Given the description of an element on the screen output the (x, y) to click on. 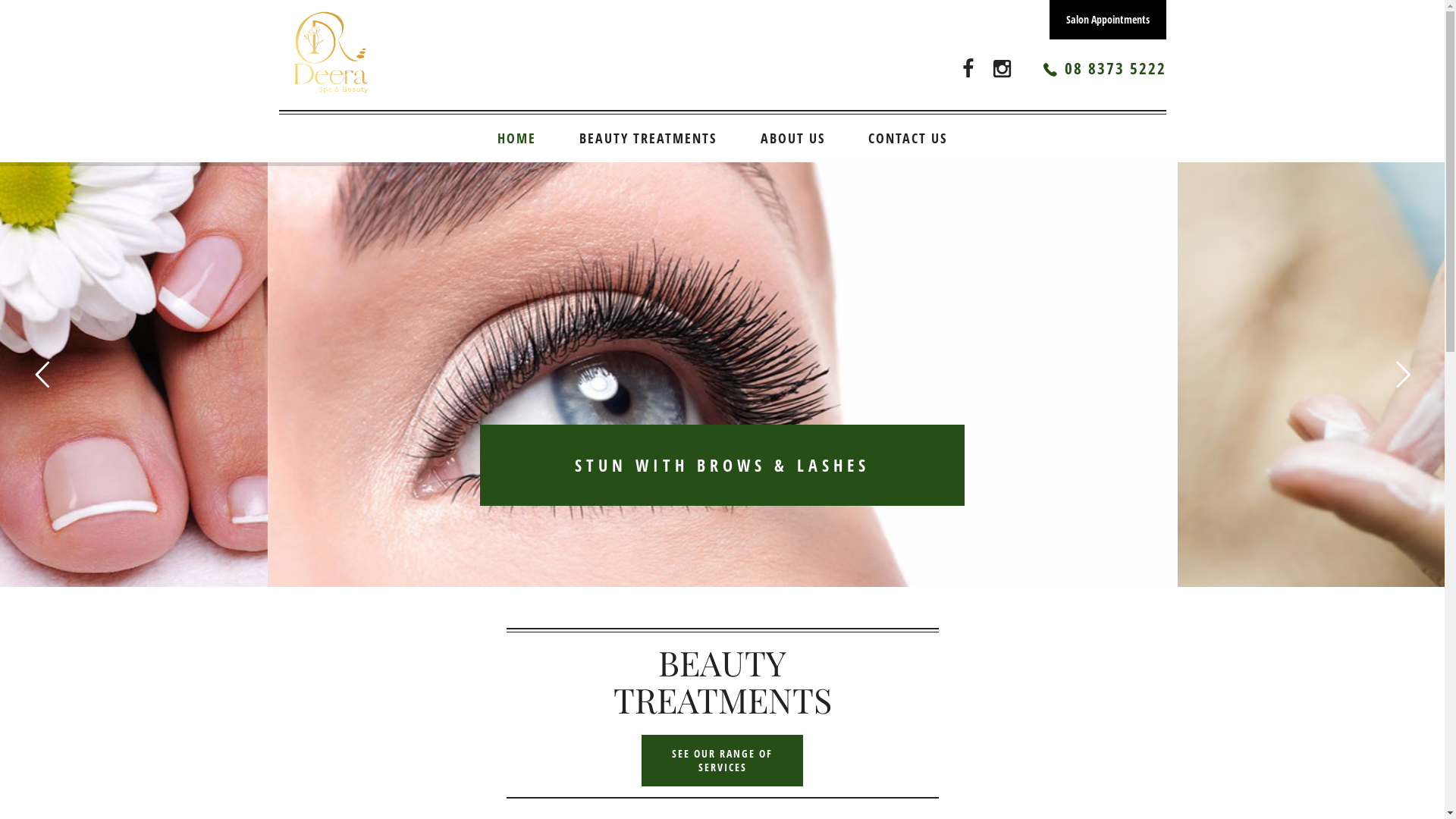
HOME Element type: text (516, 138)
CONTACT US Element type: text (908, 138)
08 8373 5222 Element type: text (1115, 67)
Salon Appointments Element type: text (1107, 19)
SEE OUR RANGE OF SERVICES Element type: text (722, 760)
ABOUT US Element type: text (792, 138)
BEAUTY TREATMENTS Element type: text (647, 138)
